Given the description of an element on the screen output the (x, y) to click on. 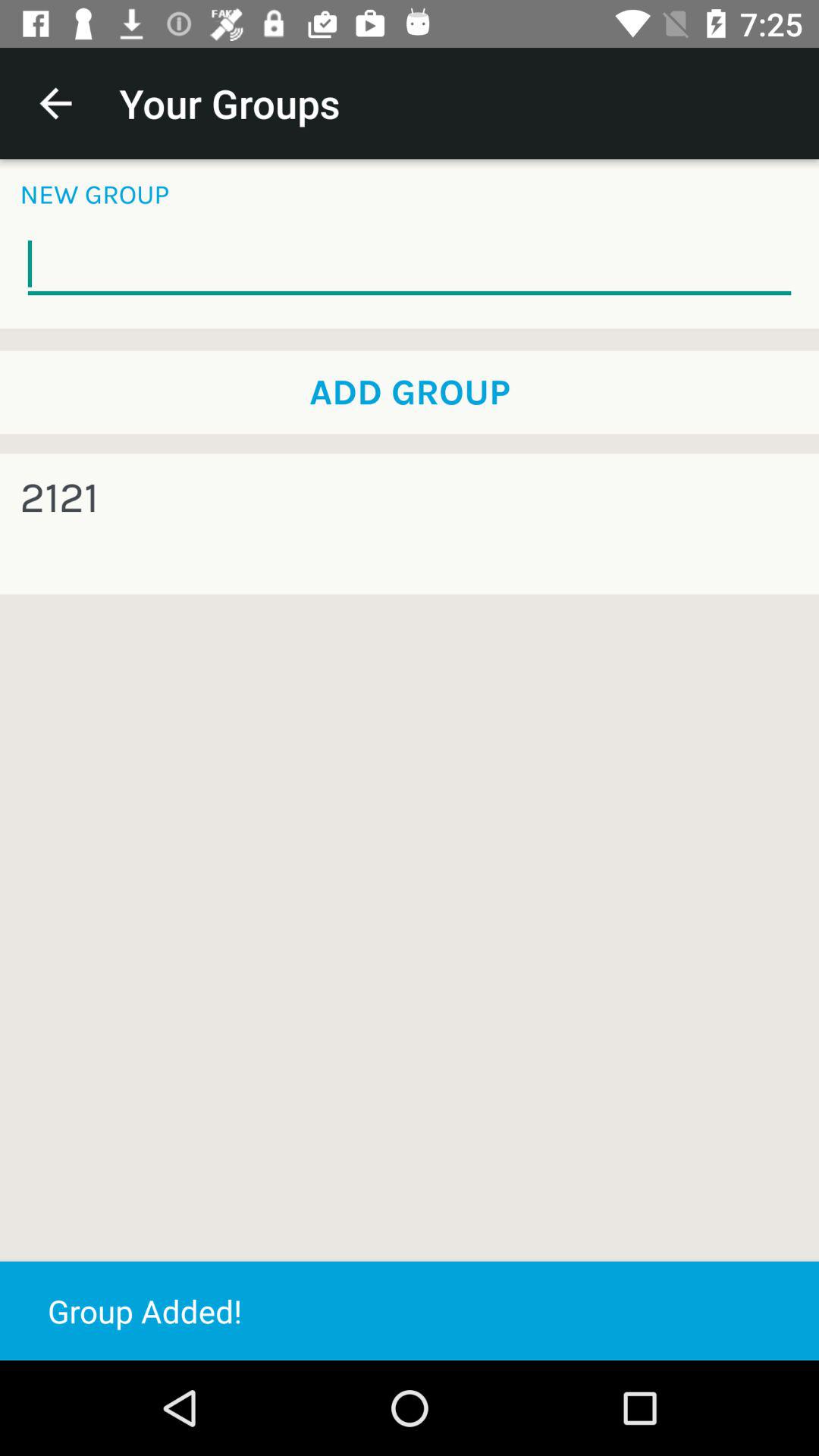
choose the icon above the group added! (58, 497)
